Given the description of an element on the screen output the (x, y) to click on. 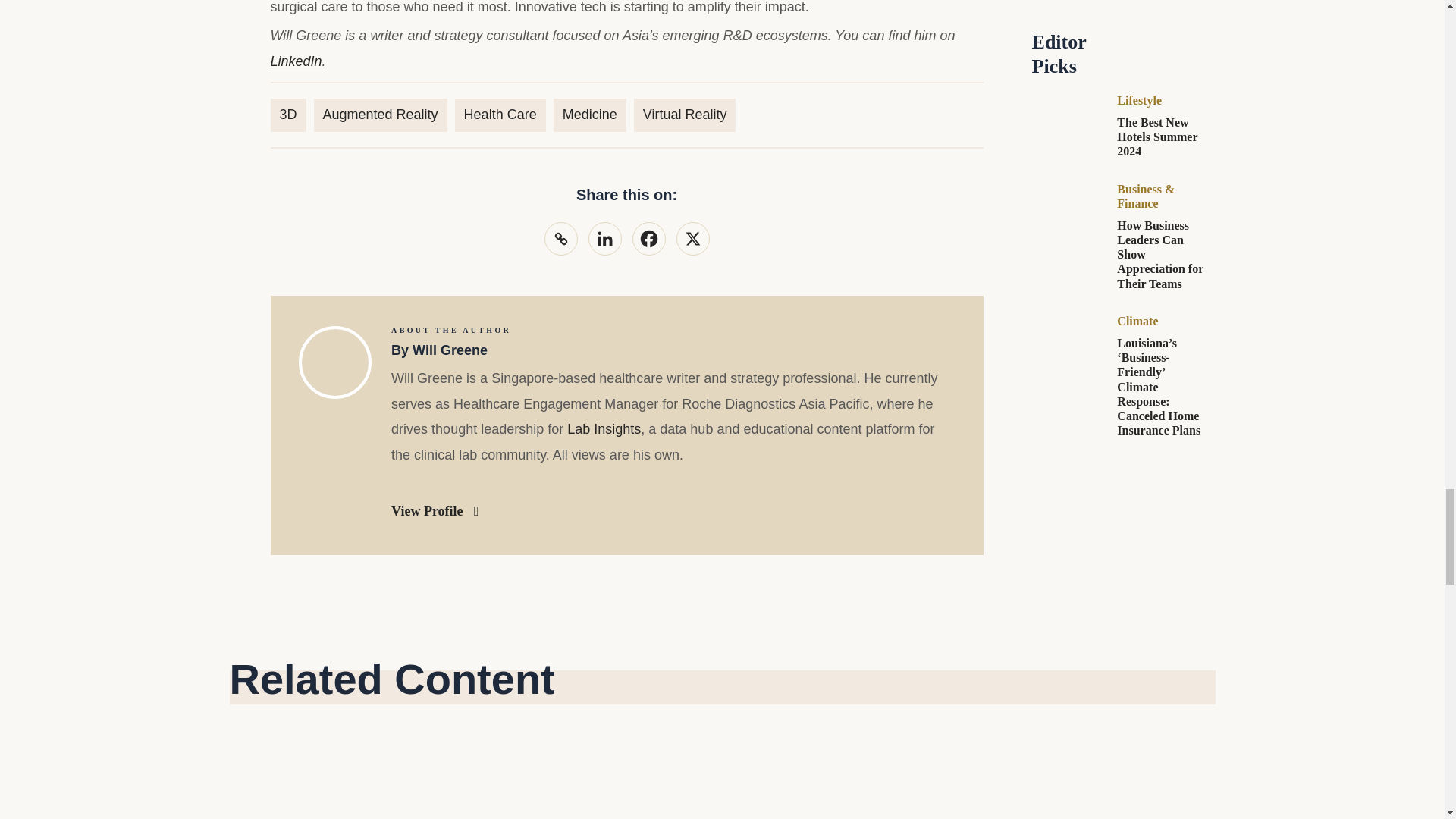
Linkedin (604, 238)
X (693, 238)
Copy Link (561, 238)
Virtual reality (684, 114)
Medicine (589, 114)
augmented reality (380, 114)
Facebook (648, 238)
Health care (500, 114)
3D (287, 114)
